Given the description of an element on the screen output the (x, y) to click on. 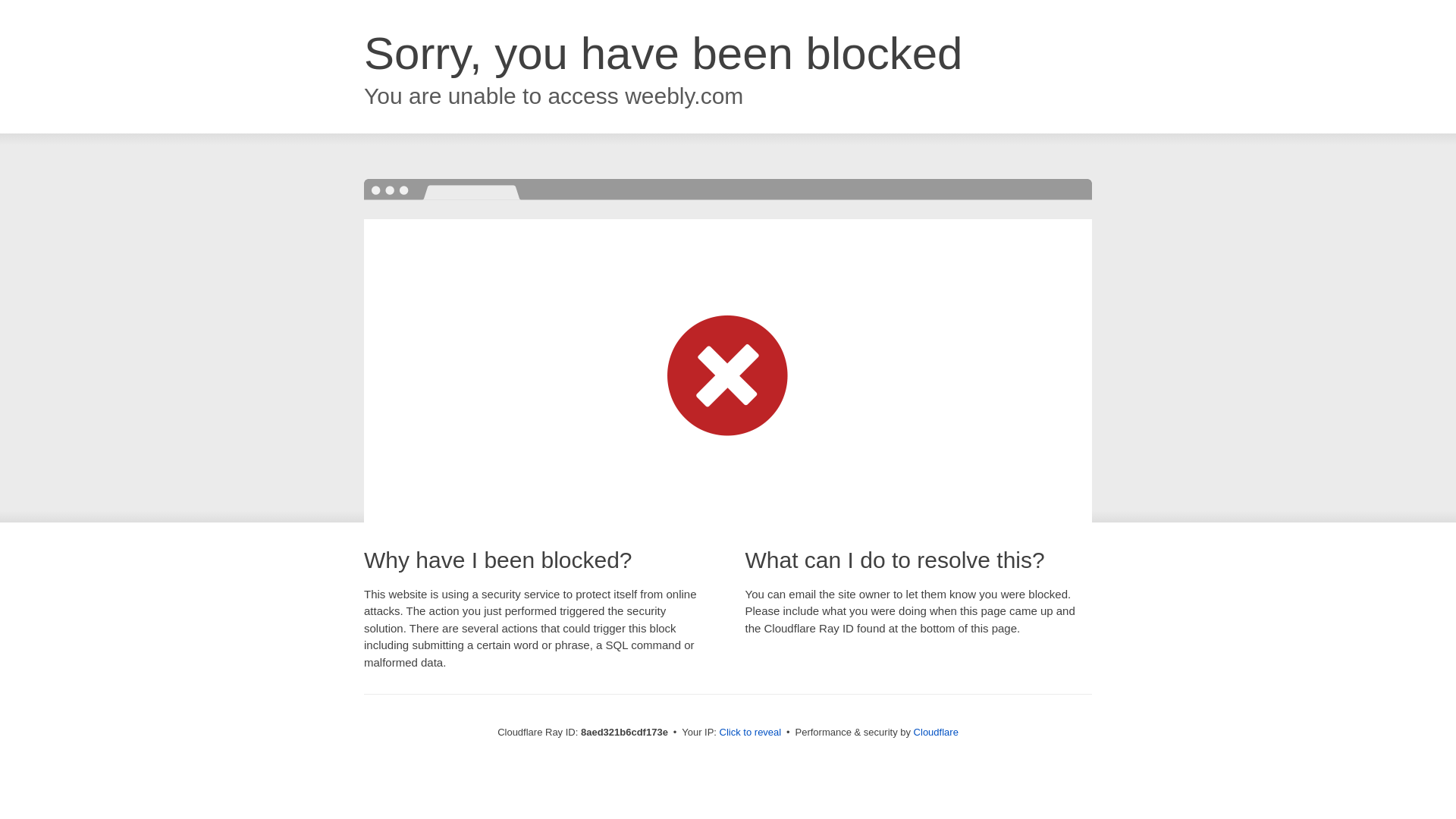
Click to reveal (750, 732)
Cloudflare (936, 731)
